Given the description of an element on the screen output the (x, y) to click on. 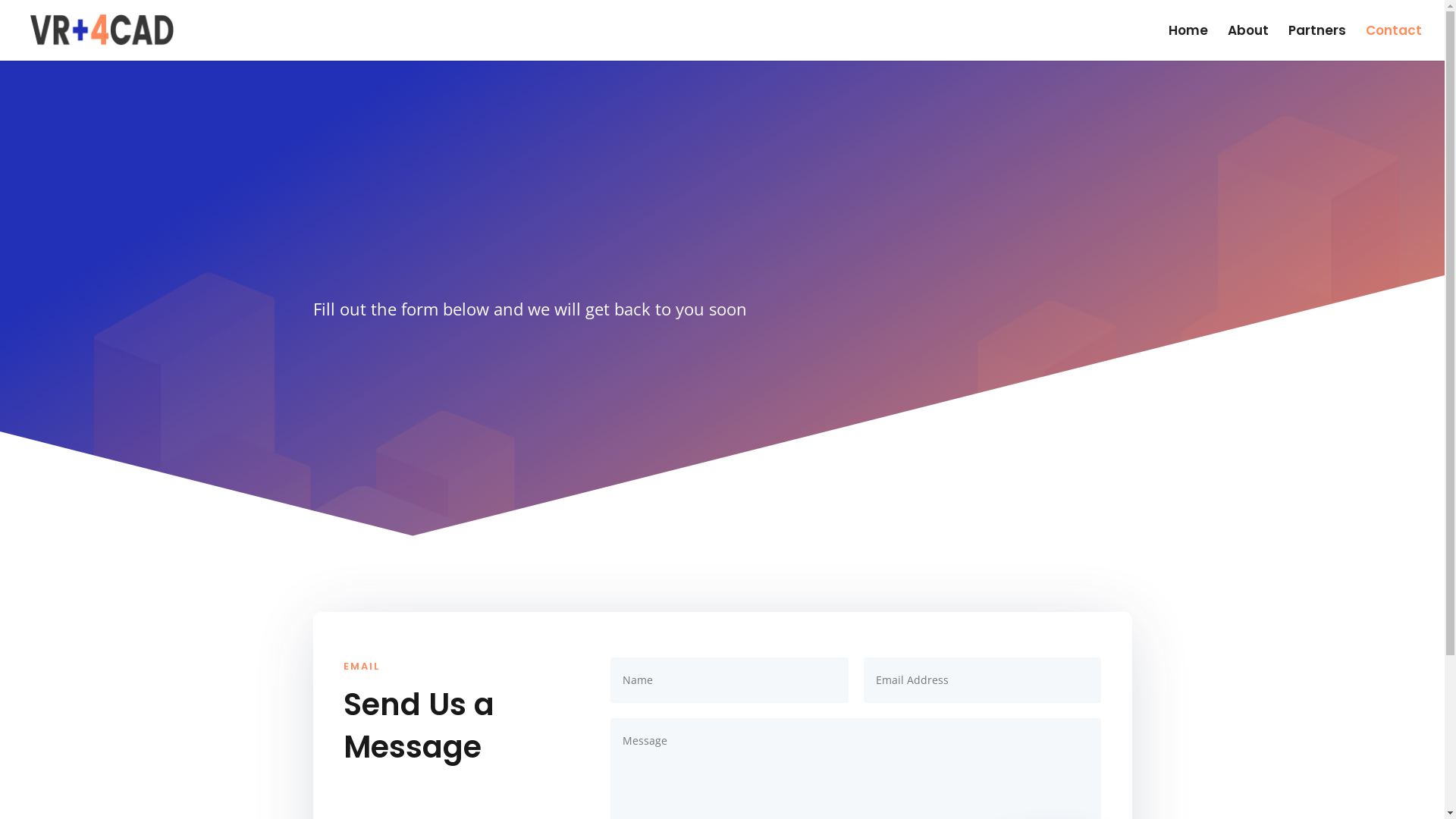
Home Element type: text (1188, 42)
About Element type: text (1247, 42)
Contact Element type: text (1393, 42)
Partners Element type: text (1317, 42)
